Given the description of an element on the screen output the (x, y) to click on. 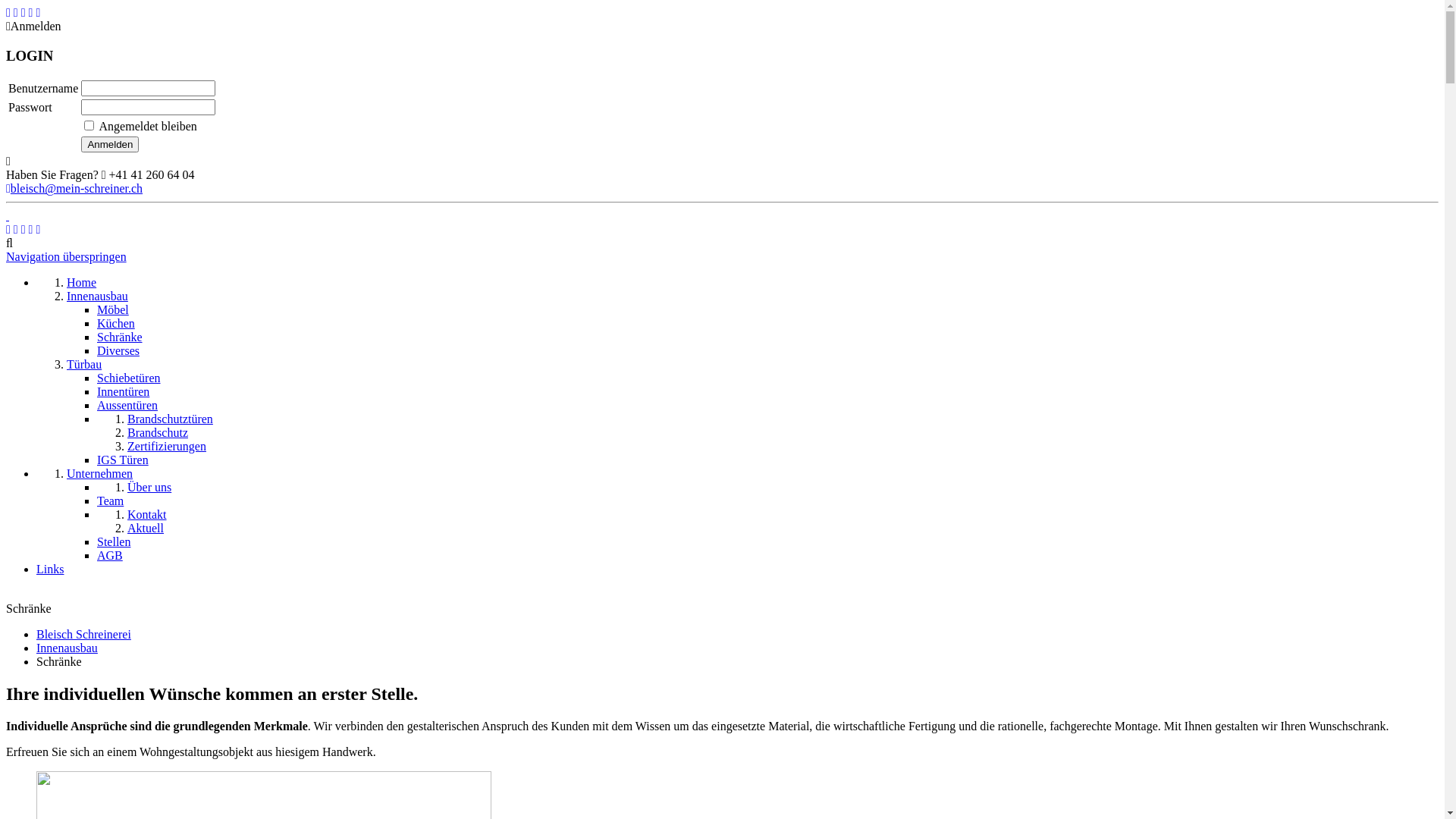
Unternehmen Element type: text (99, 473)
bleisch@mein-schreiner.ch Element type: text (74, 188)
Stellen Element type: text (113, 541)
  Element type: text (7, 594)
Anmelden Element type: text (109, 144)
AGB Element type: text (109, 555)
Aktuell Element type: text (145, 527)
Zertifizierungen Element type: text (166, 445)
Team Element type: text (110, 500)
Innenausbau Element type: text (97, 295)
Bleisch Schreinerei Element type: text (83, 633)
Innenausbau Element type: text (66, 647)
Links Element type: text (49, 568)
Kontakt Element type: text (146, 514)
Home Element type: text (81, 282)
  Element type: text (7, 215)
Diverses Element type: text (118, 350)
Brandschutz Element type: text (157, 432)
